Given the description of an element on the screen output the (x, y) to click on. 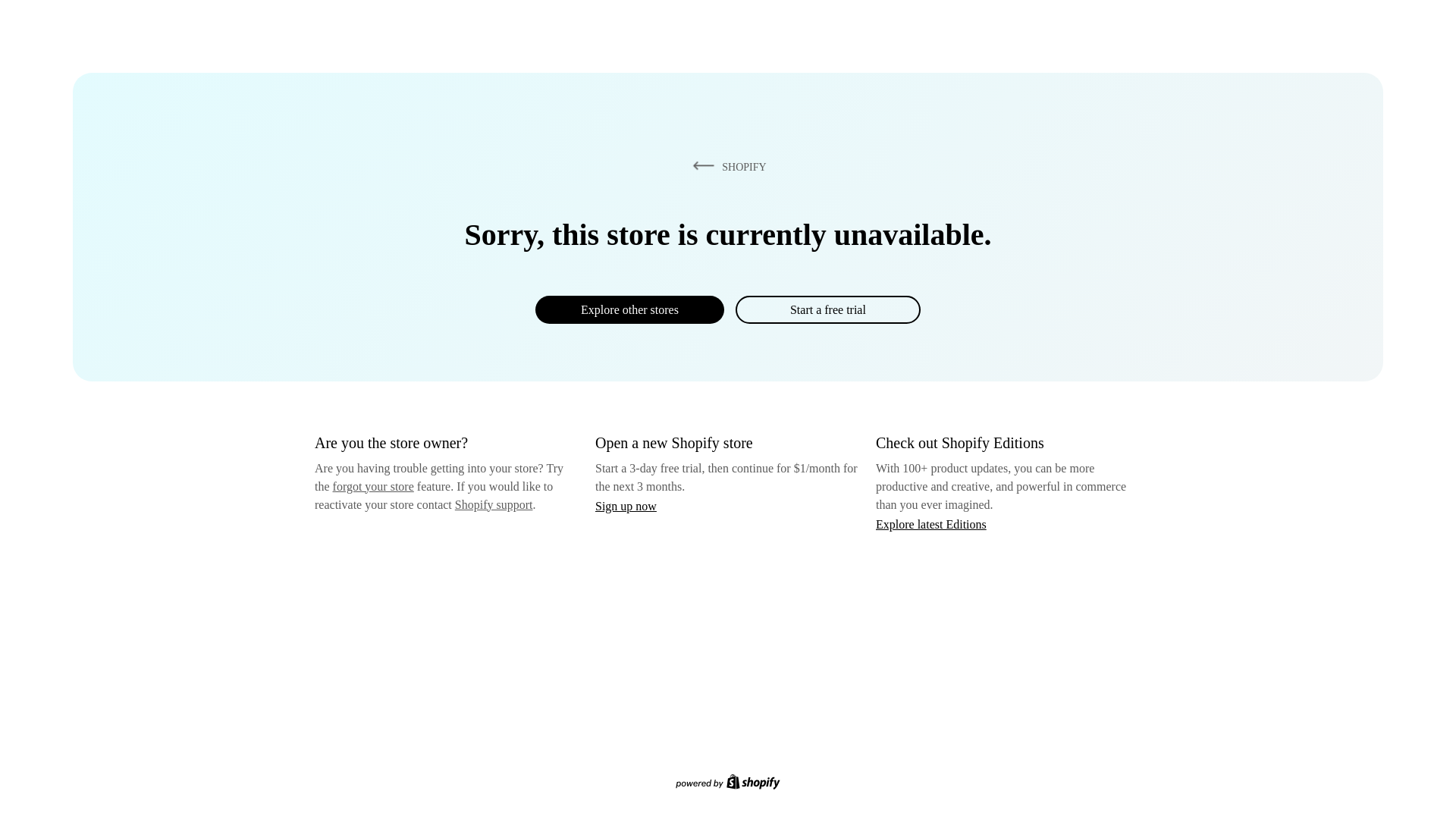
SHOPIFY (726, 166)
Start a free trial (827, 309)
forgot your store (373, 486)
Shopify support (493, 504)
Explore latest Editions (931, 523)
Explore other stores (629, 309)
Sign up now (625, 505)
